Given the description of an element on the screen output the (x, y) to click on. 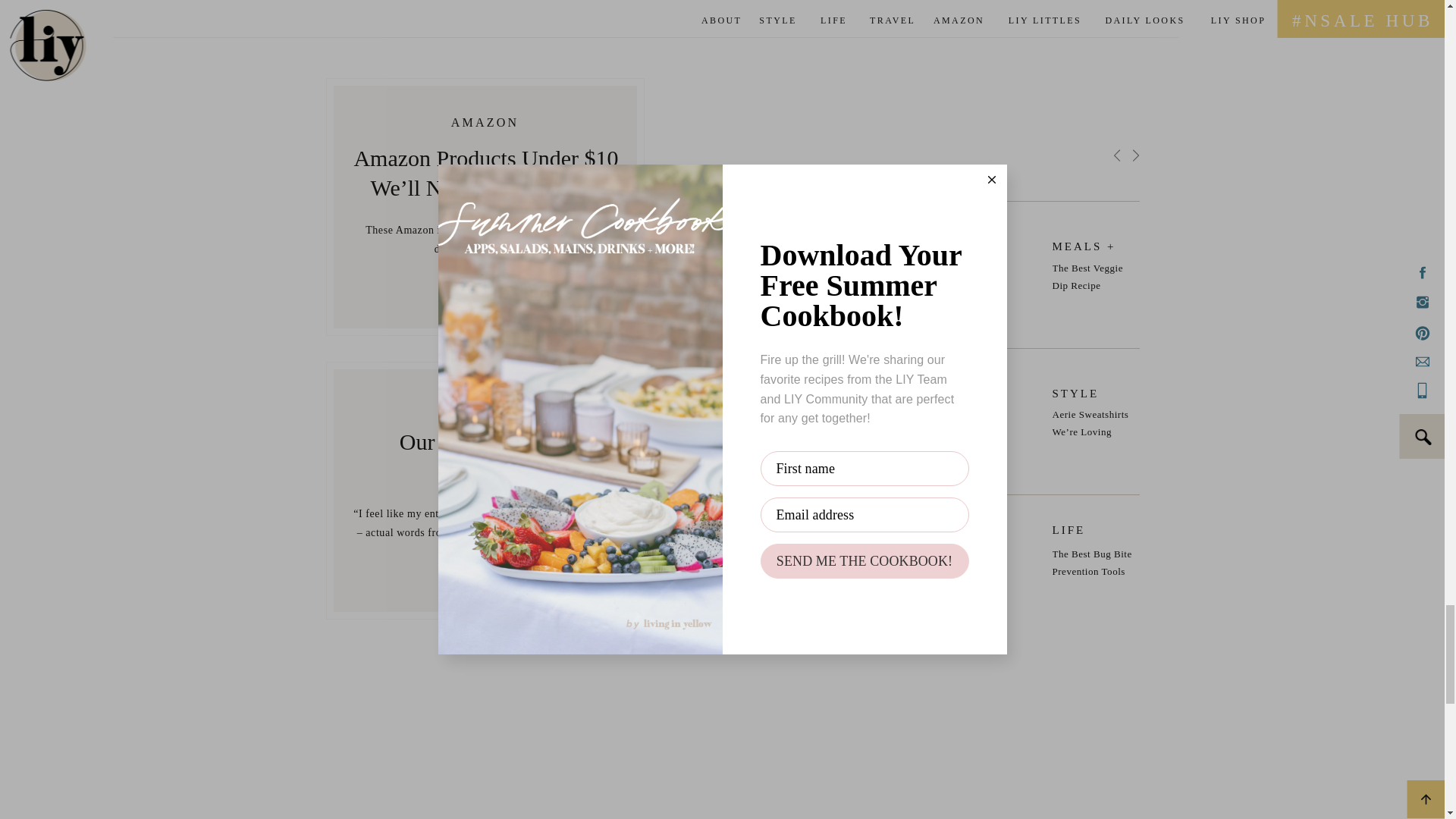
Our Favorite Tarte Products (485, 569)
